Given the description of an element on the screen output the (x, y) to click on. 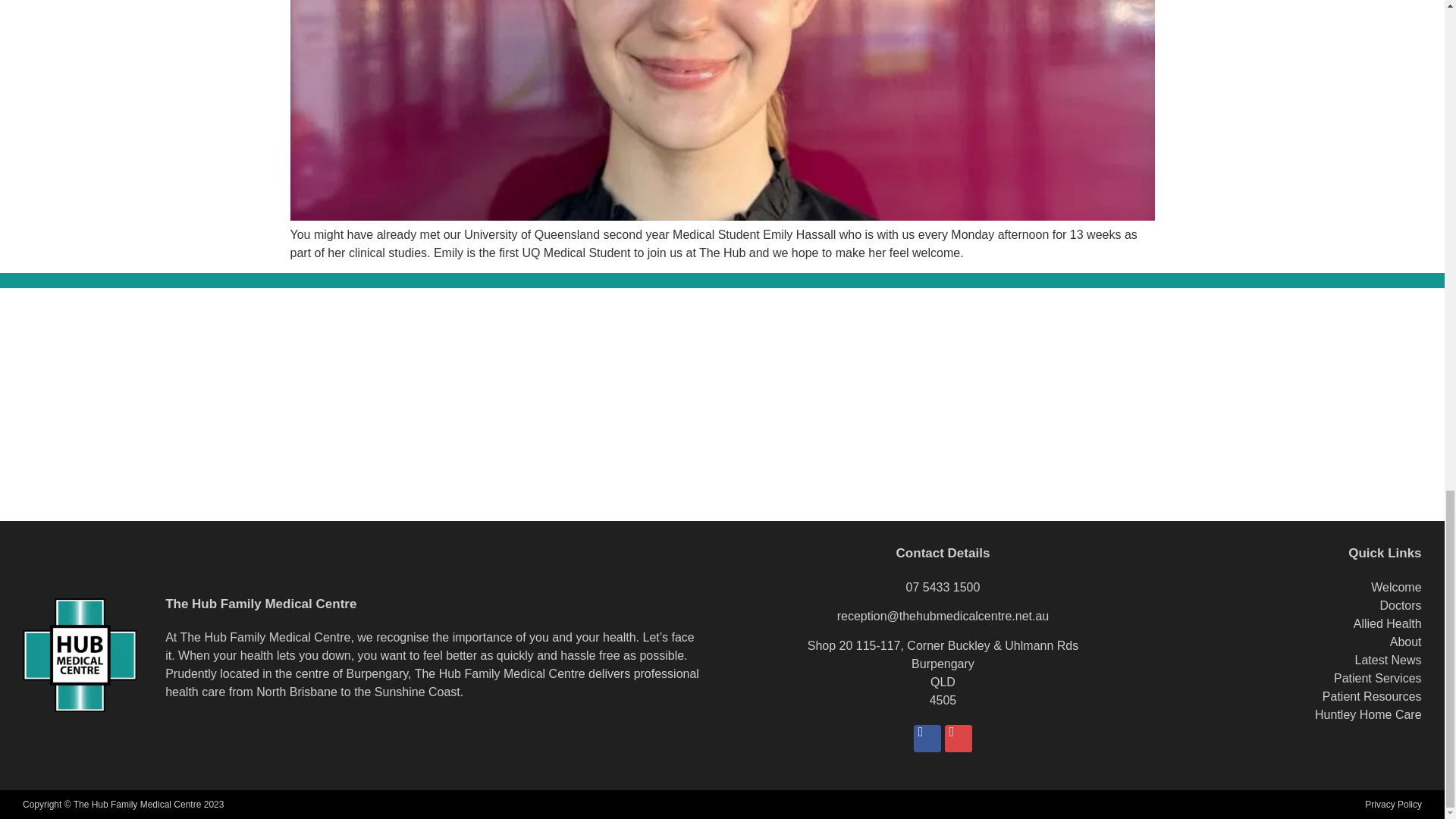
About (1406, 641)
Doctors (1399, 604)
Patient Services (1377, 677)
Patient Resources (1372, 696)
Allied Health (1388, 623)
Huntley Home Care (1368, 714)
Latest News (1388, 659)
Welcome (1396, 586)
Privacy Policy (1393, 803)
